Given the description of an element on the screen output the (x, y) to click on. 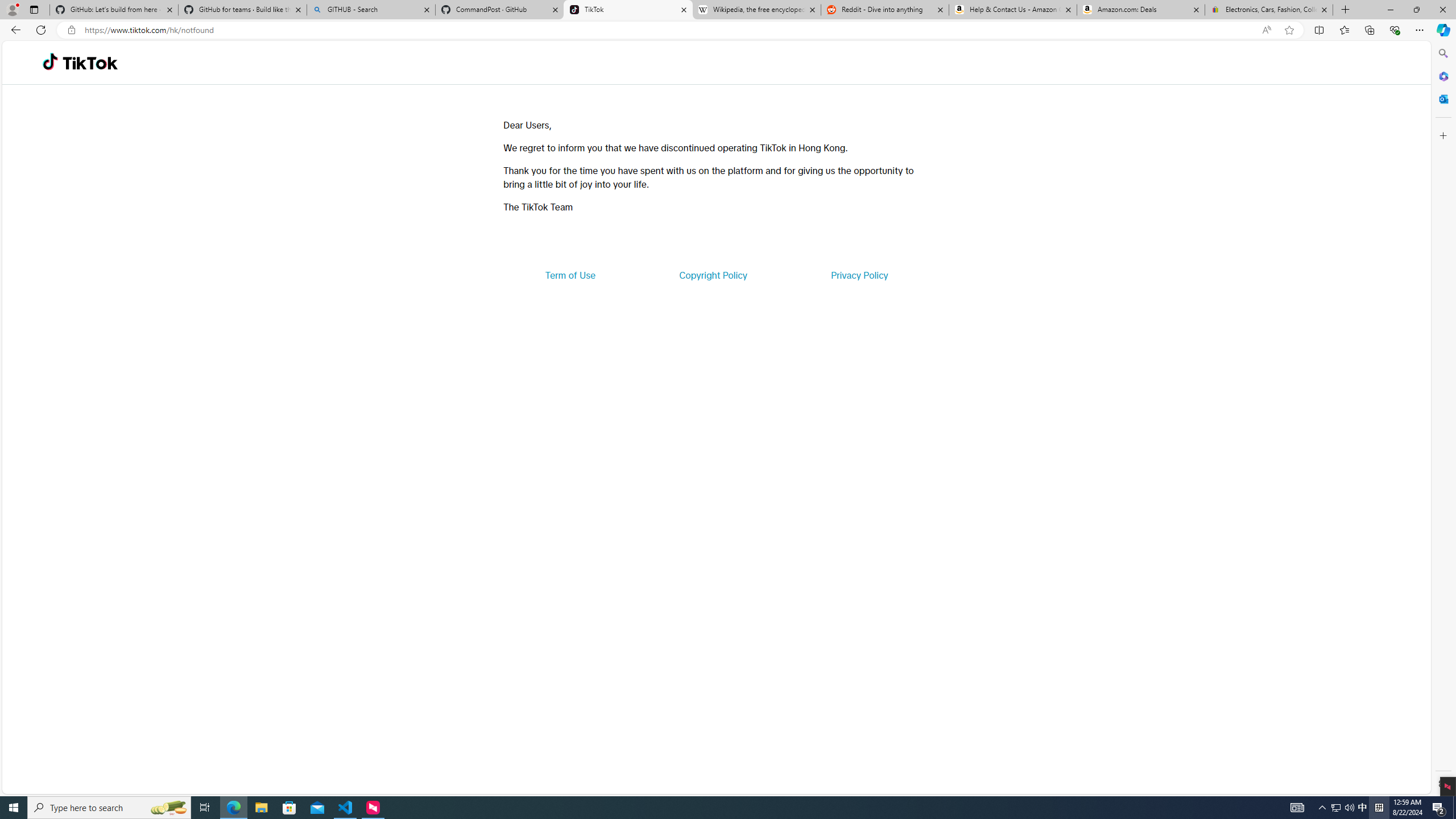
TikTok (628, 9)
Reddit - Dive into anything (884, 9)
Term of Use (569, 274)
